Given the description of an element on the screen output the (x, y) to click on. 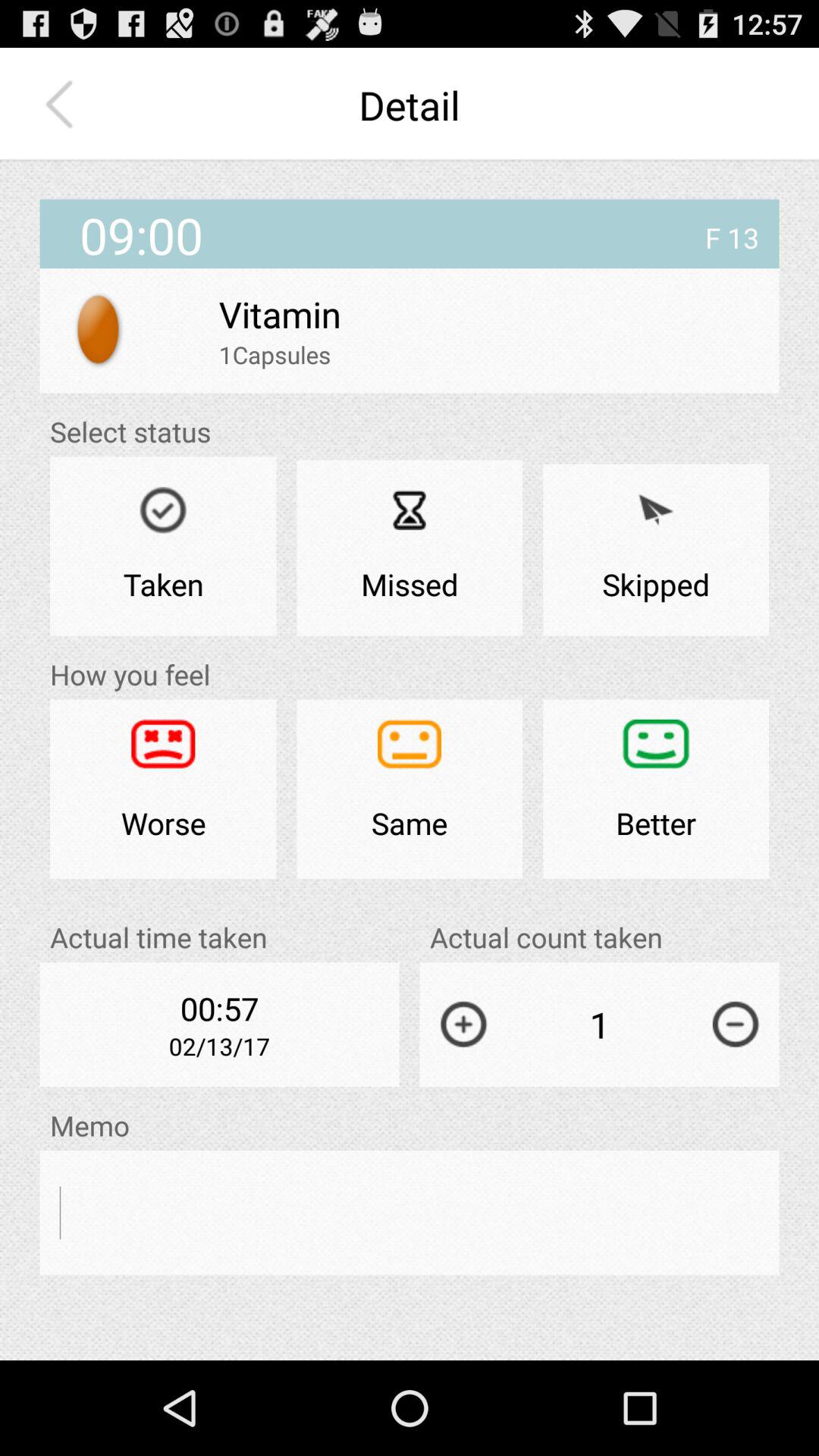
turn on same (409, 788)
